Given the description of an element on the screen output the (x, y) to click on. 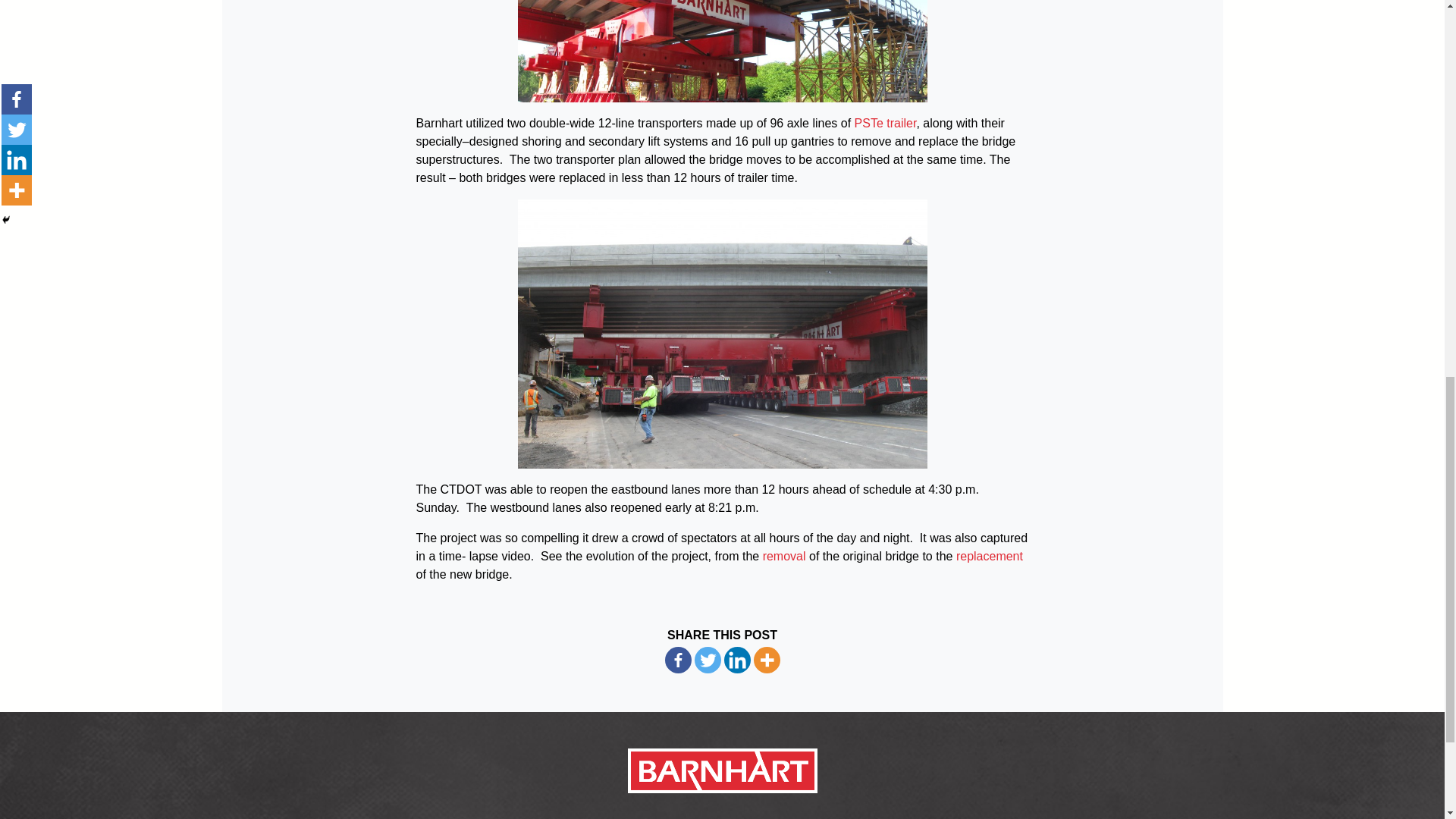
Marion Ave bridge replacement 089 (721, 51)
Marion Ave bridge replacement 131 rev (721, 333)
removal (784, 555)
Twitter (707, 660)
More (767, 660)
replacement (989, 555)
PSTe trailer (885, 123)
Facebook (676, 660)
Linkedin (736, 660)
